Given the description of an element on the screen output the (x, y) to click on. 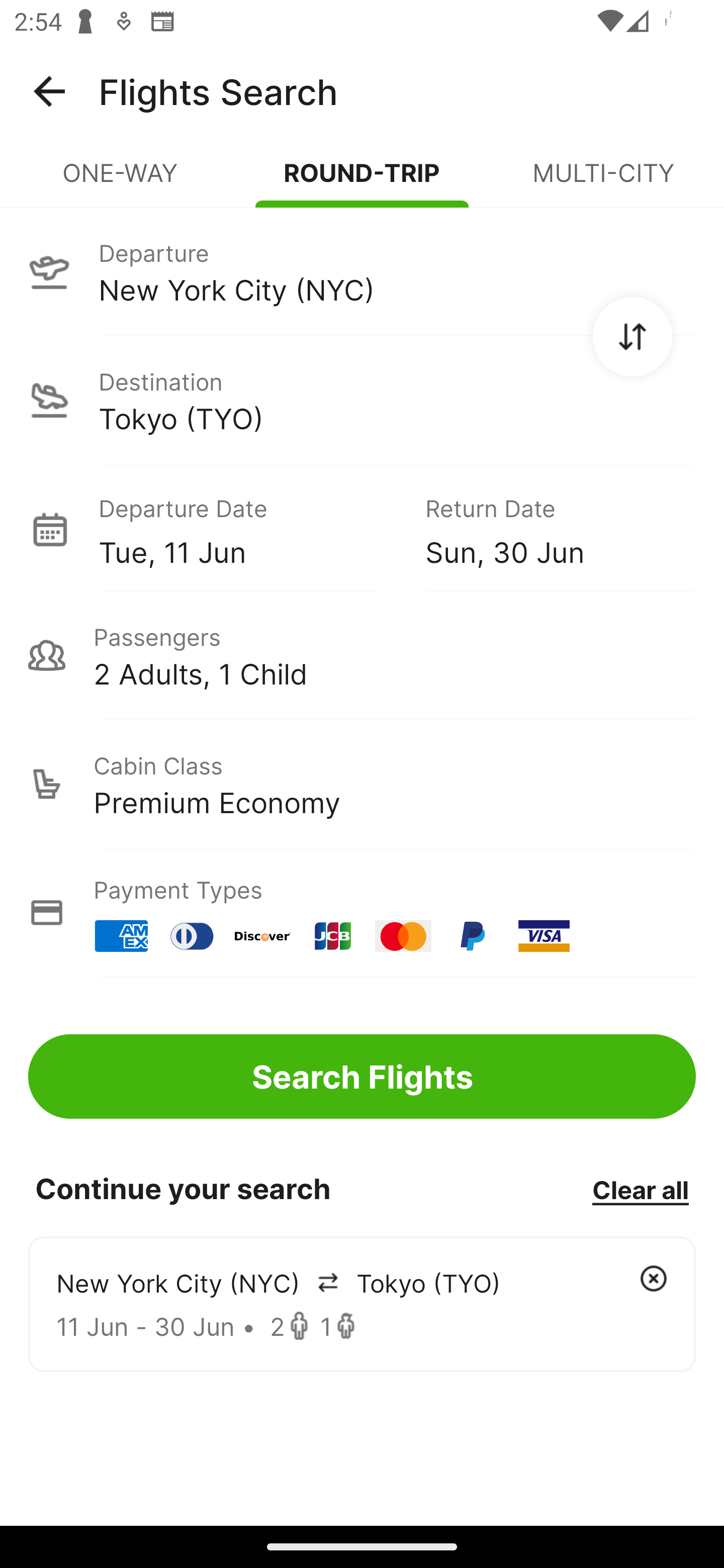
ONE-WAY (120, 180)
ROUND-TRIP (361, 180)
MULTI-CITY (603, 180)
Departure New York City (NYC) (362, 270)
Destination Tokyo (TYO) (362, 400)
Departure Date Tue, 11 Jun (247, 528)
Return Date Sun, 30 Jun (546, 528)
Passengers 2 Adults, 1 Child (362, 655)
Cabin Class Premium Economy (362, 783)
Payment Types (362, 912)
Search Flights (361, 1075)
Clear all (640, 1189)
